Given the description of an element on the screen output the (x, y) to click on. 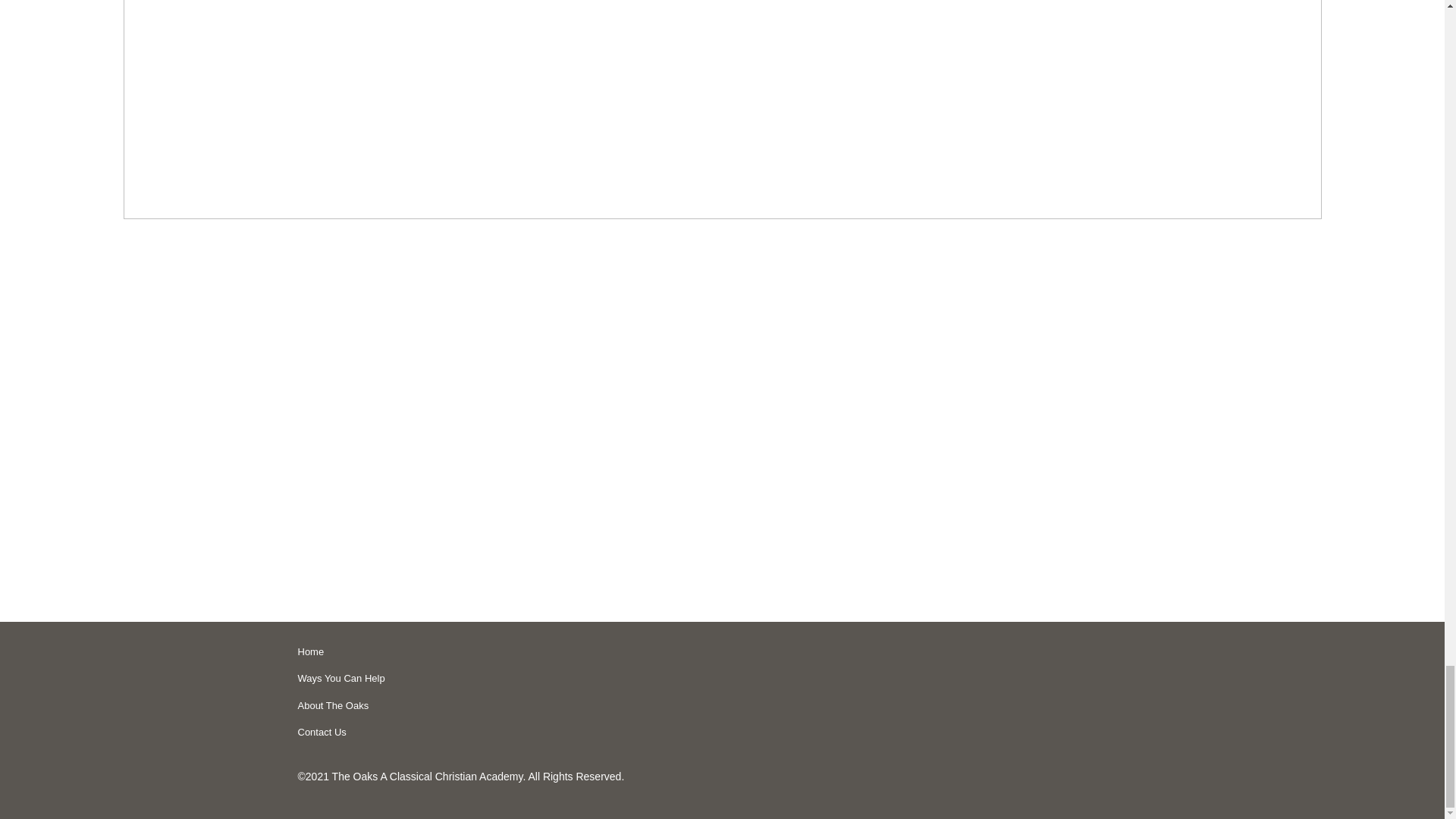
Contact Us (505, 732)
About The Oaks (505, 705)
Ways You Can Help (505, 678)
Home (505, 652)
